Given the description of an element on the screen output the (x, y) to click on. 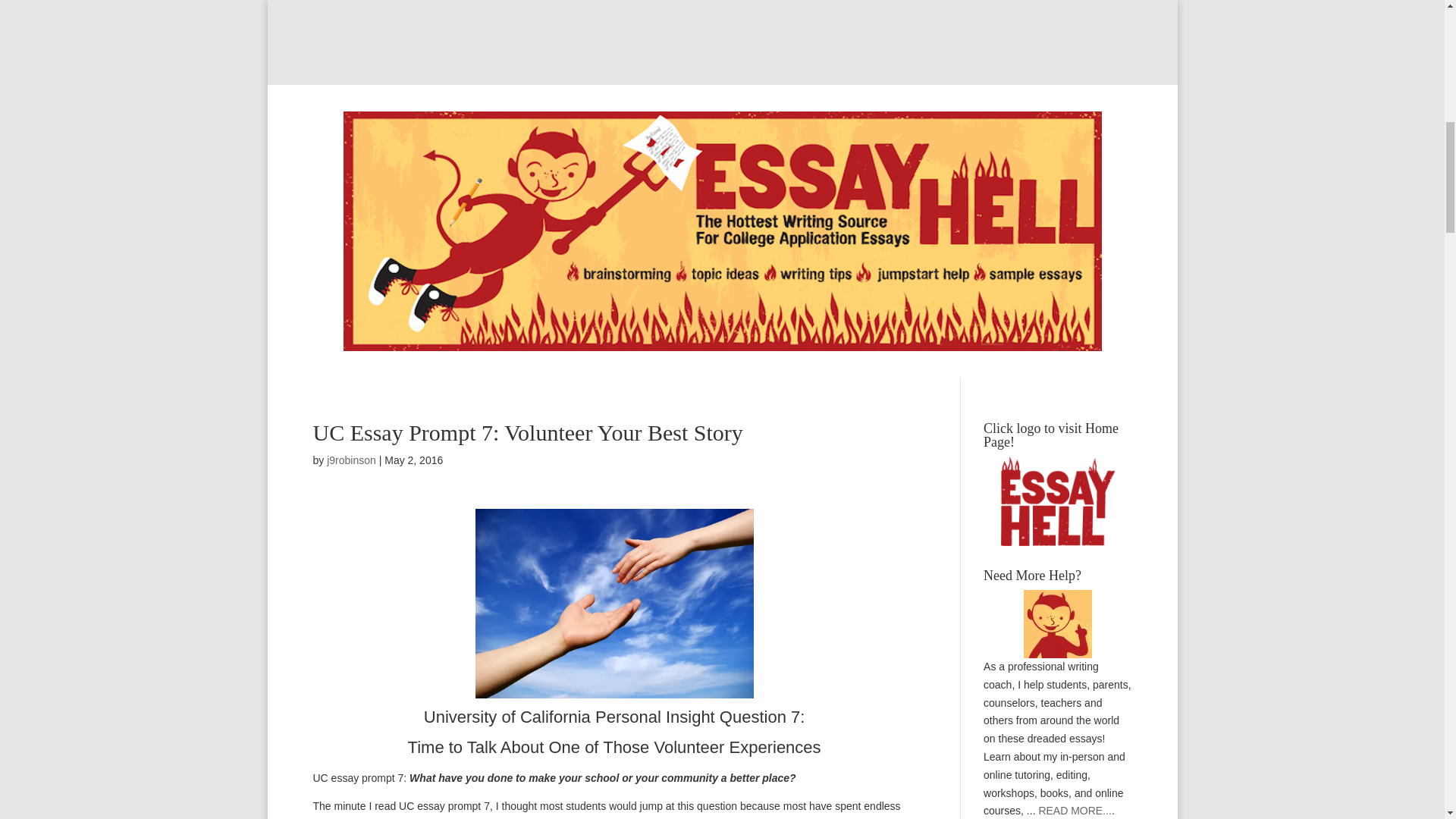
Posts by j9robinson (350, 460)
Click logo to visit Home Page! (1057, 501)
